Given the description of an element on the screen output the (x, y) to click on. 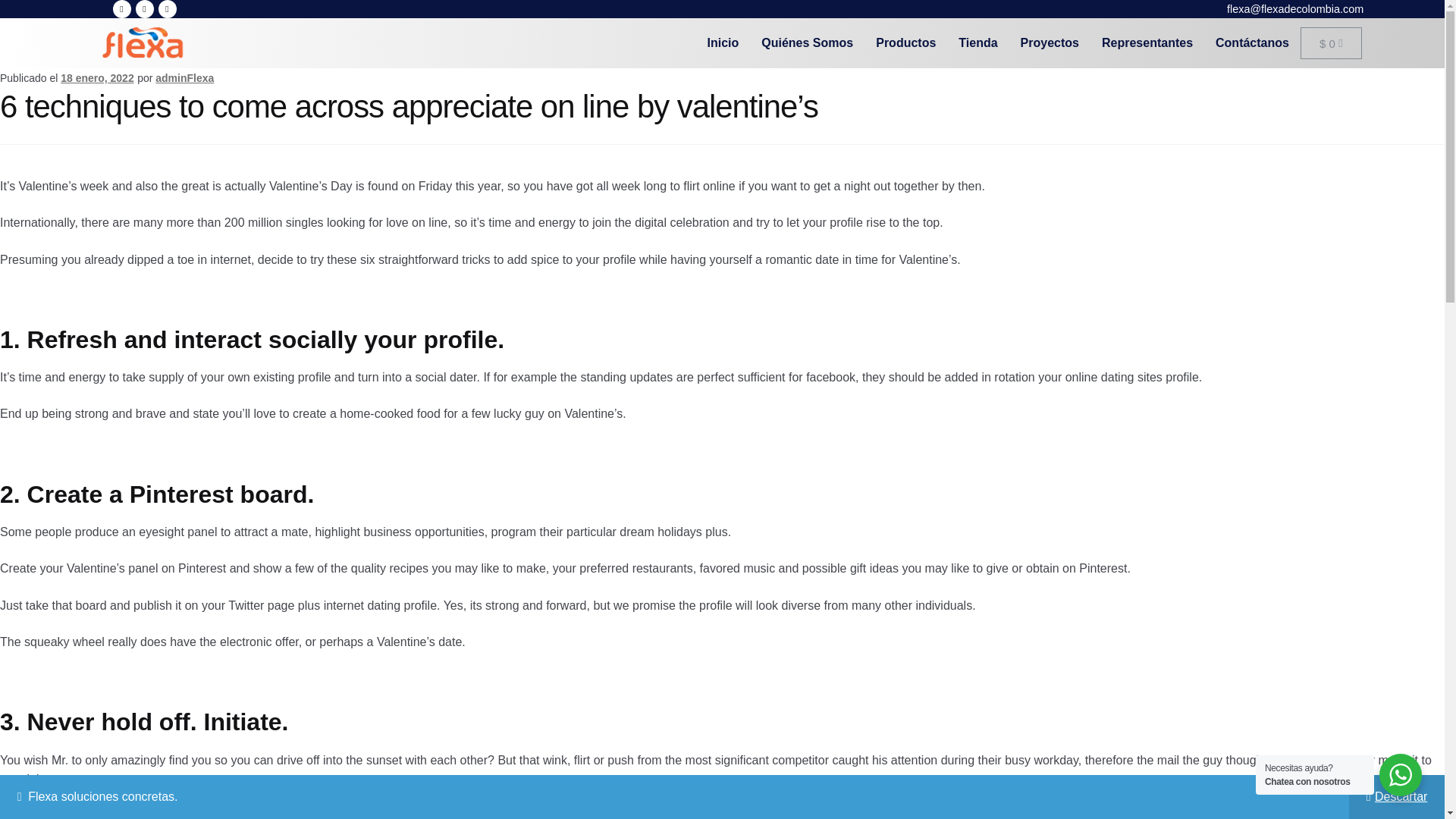
Productos (905, 42)
Representantes (1147, 42)
Inicio (723, 42)
Proyectos (1049, 42)
Tienda (978, 42)
18 enero, 2022 (97, 78)
adminFlexa (184, 78)
